Given the description of an element on the screen output the (x, y) to click on. 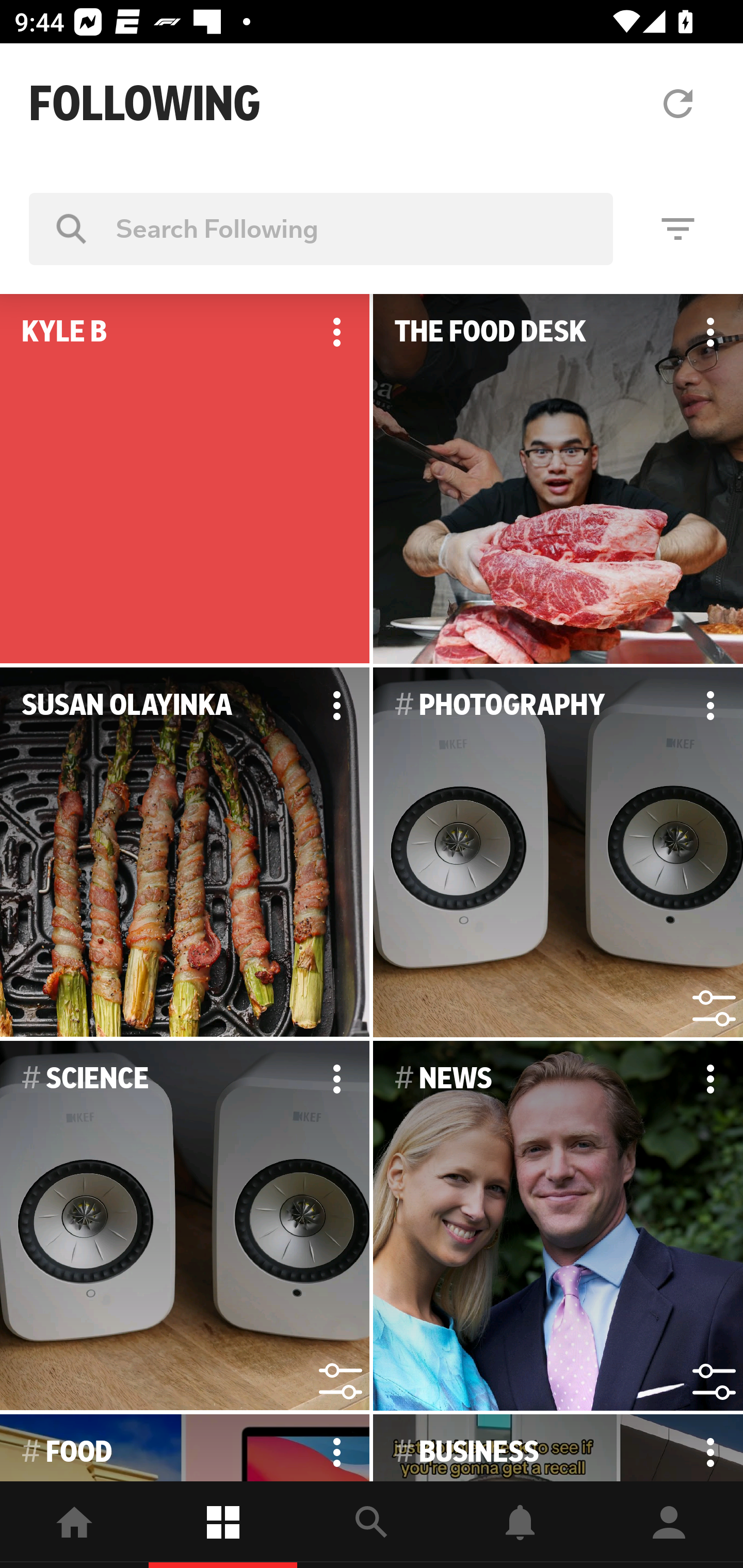
Search Following (320, 228)
KYLE B Options (184, 478)
Options (336, 332)
THE FOOD DESK Options (557, 478)
Options (710, 332)
SUSAN OLAYINKA Options (184, 852)
Options (336, 705)
# PHOTOGRAPHY Options (557, 852)
Options (710, 705)
# SCIENCE Options (184, 1226)
Options (336, 1078)
# NEWS Options (557, 1226)
Options (710, 1078)
Options (336, 1447)
Options (710, 1447)
home (74, 1524)
Following (222, 1524)
explore (371, 1524)
Notifications (519, 1524)
Profile (668, 1524)
